Given the description of an element on the screen output the (x, y) to click on. 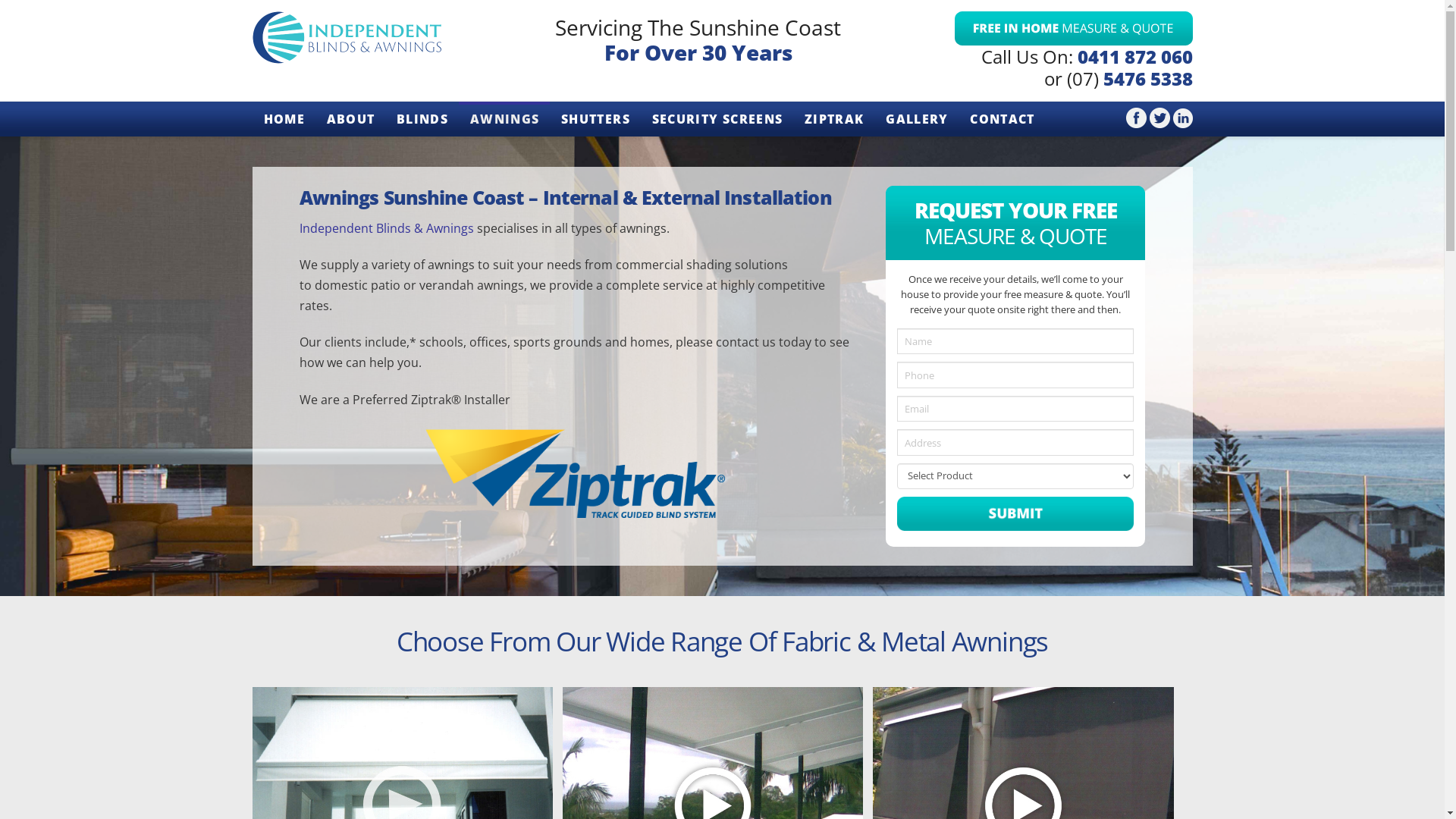
SECURITY SCREENS Element type: text (716, 118)
ZIPTRAK Element type: text (833, 118)
5476 5338 Element type: text (1147, 78)
fb Element type: hover (1135, 116)
BLINDS Element type: text (421, 118)
Independent Blinds & Awnings Element type: text (385, 227)
ABOUT Element type: text (350, 118)
SHUTTERS Element type: text (594, 118)
GALLERY Element type: text (916, 118)
CONTACT Element type: text (1001, 118)
Free Quote Element type: hover (1072, 25)
0411 872 060 Element type: text (1134, 56)
Twitter Element type: hover (1159, 116)
HOME Element type: text (282, 118)
Linked In Element type: hover (1182, 116)
AWNINGS Element type: text (503, 118)
